Given the description of an element on the screen output the (x, y) to click on. 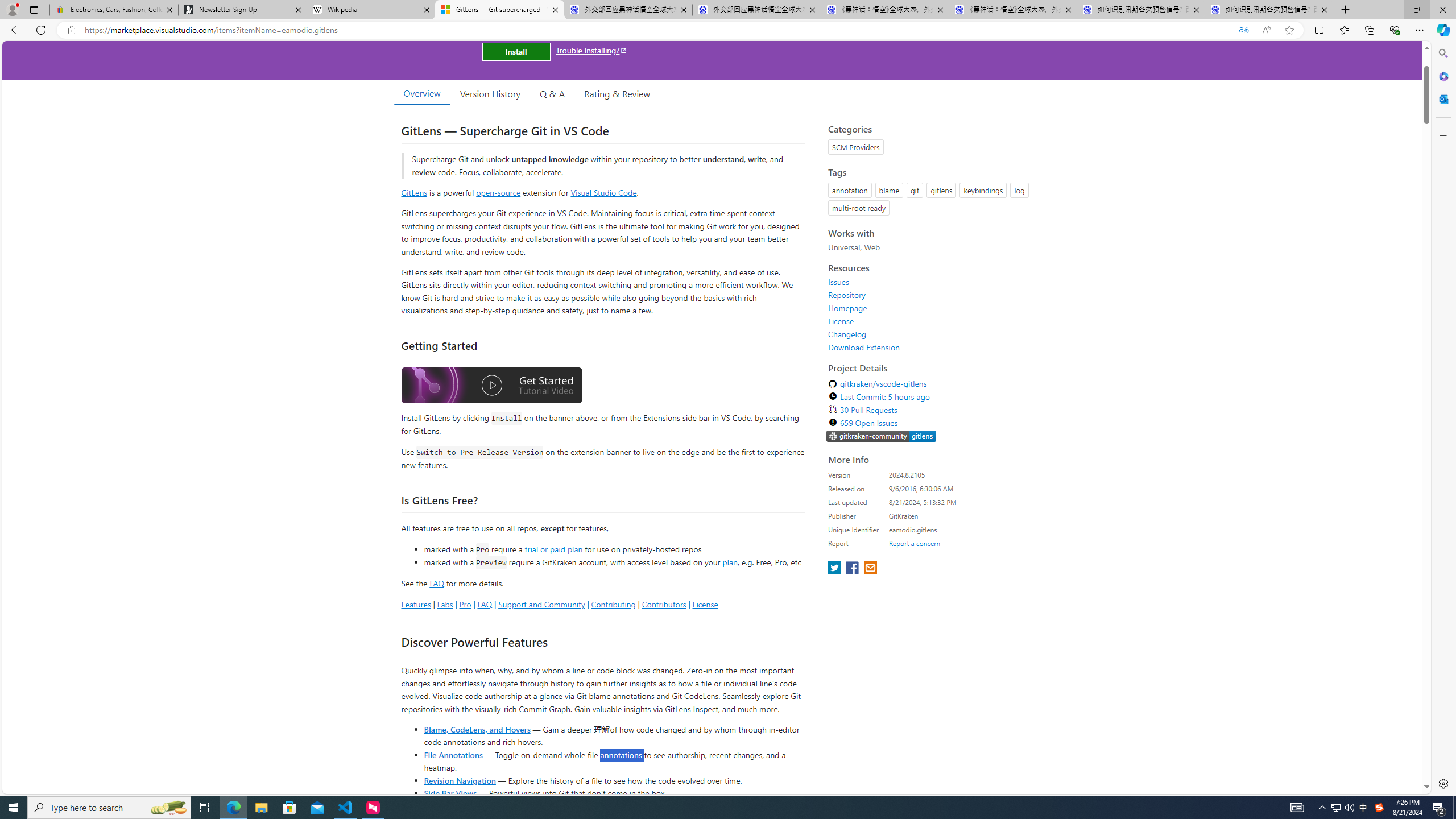
Labs (444, 603)
Watch the GitLens Getting Started video (491, 385)
Contributing (613, 603)
Repository (931, 294)
https://slack.gitkraken.com// (881, 436)
Newsletter Sign Up (242, 9)
GitLens (414, 192)
